Given the description of an element on the screen output the (x, y) to click on. 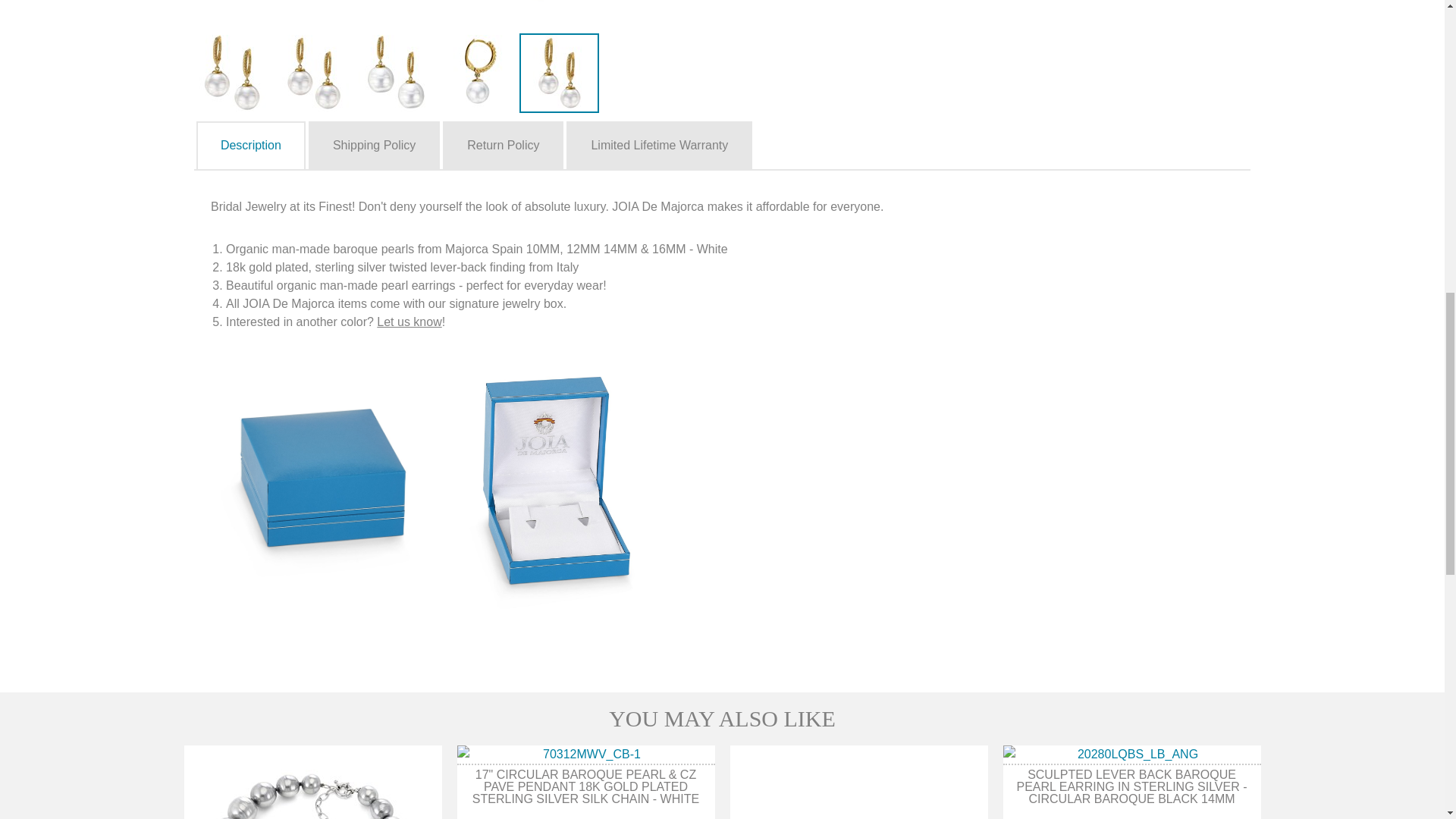
Description (251, 145)
Shipping Policy (374, 145)
Return Policy (503, 145)
